Given the description of an element on the screen output the (x, y) to click on. 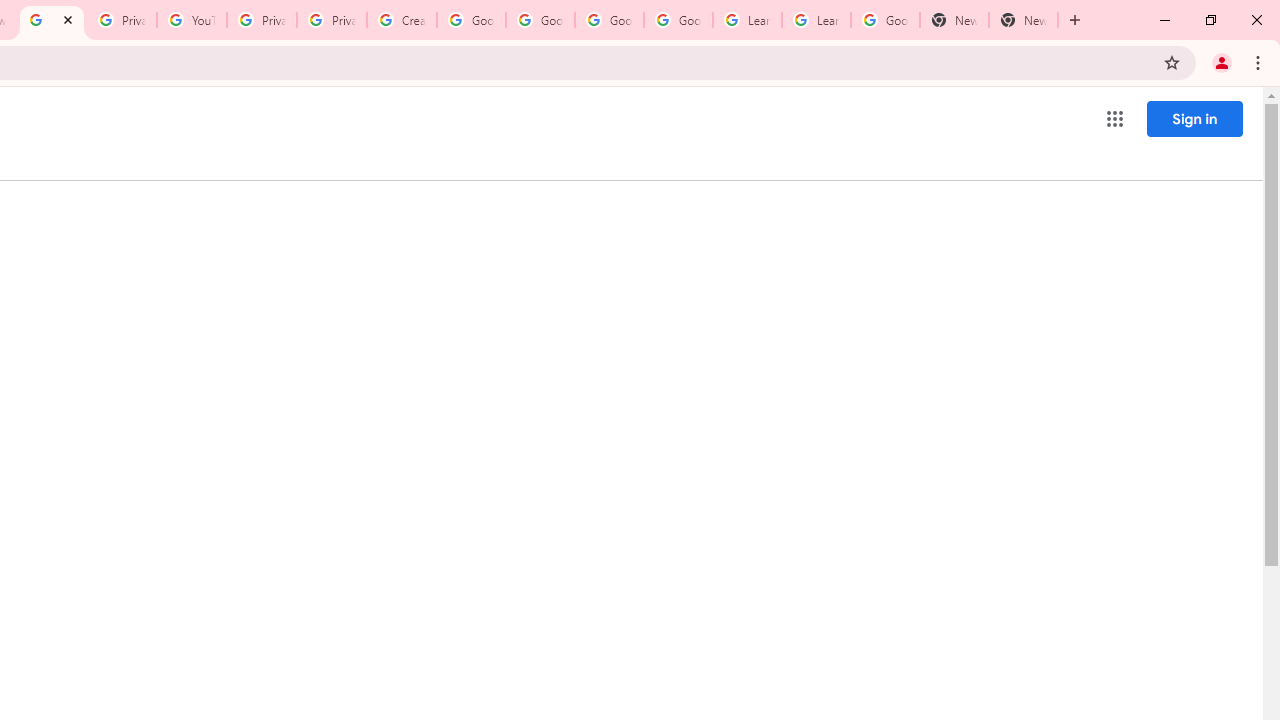
Google Account Help (608, 20)
YouTube (191, 20)
New Tab (954, 20)
Google Account Help (470, 20)
Google Account (885, 20)
